Given the description of an element on the screen output the (x, y) to click on. 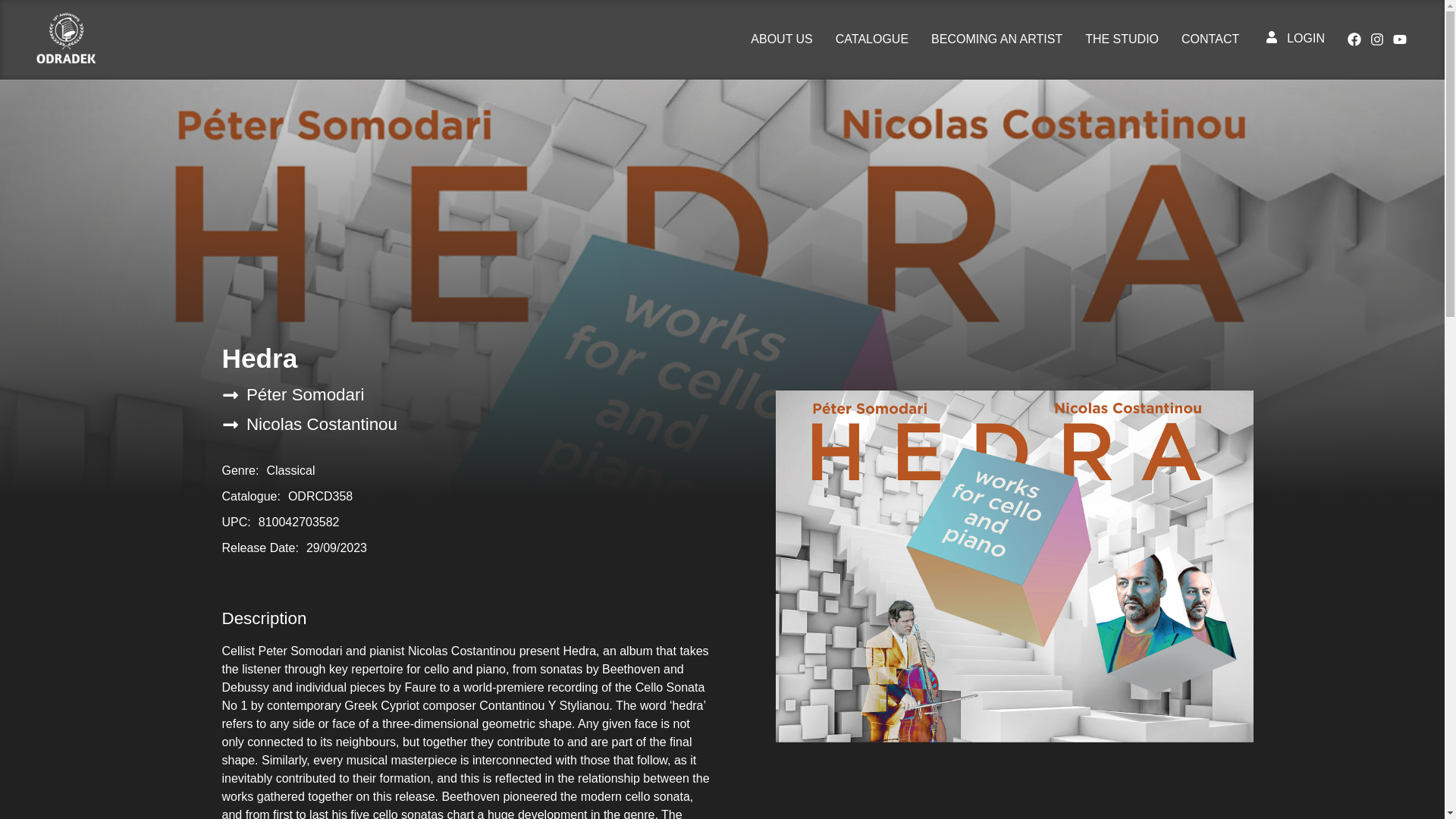
CONTACT (1210, 39)
CATALOGUE (872, 39)
THE STUDIO (1122, 39)
BECOMING AN ARTIST (997, 39)
Nicolas Costantinou (309, 426)
LOGIN (1294, 38)
ABOUT US (781, 39)
